Given the description of an element on the screen output the (x, y) to click on. 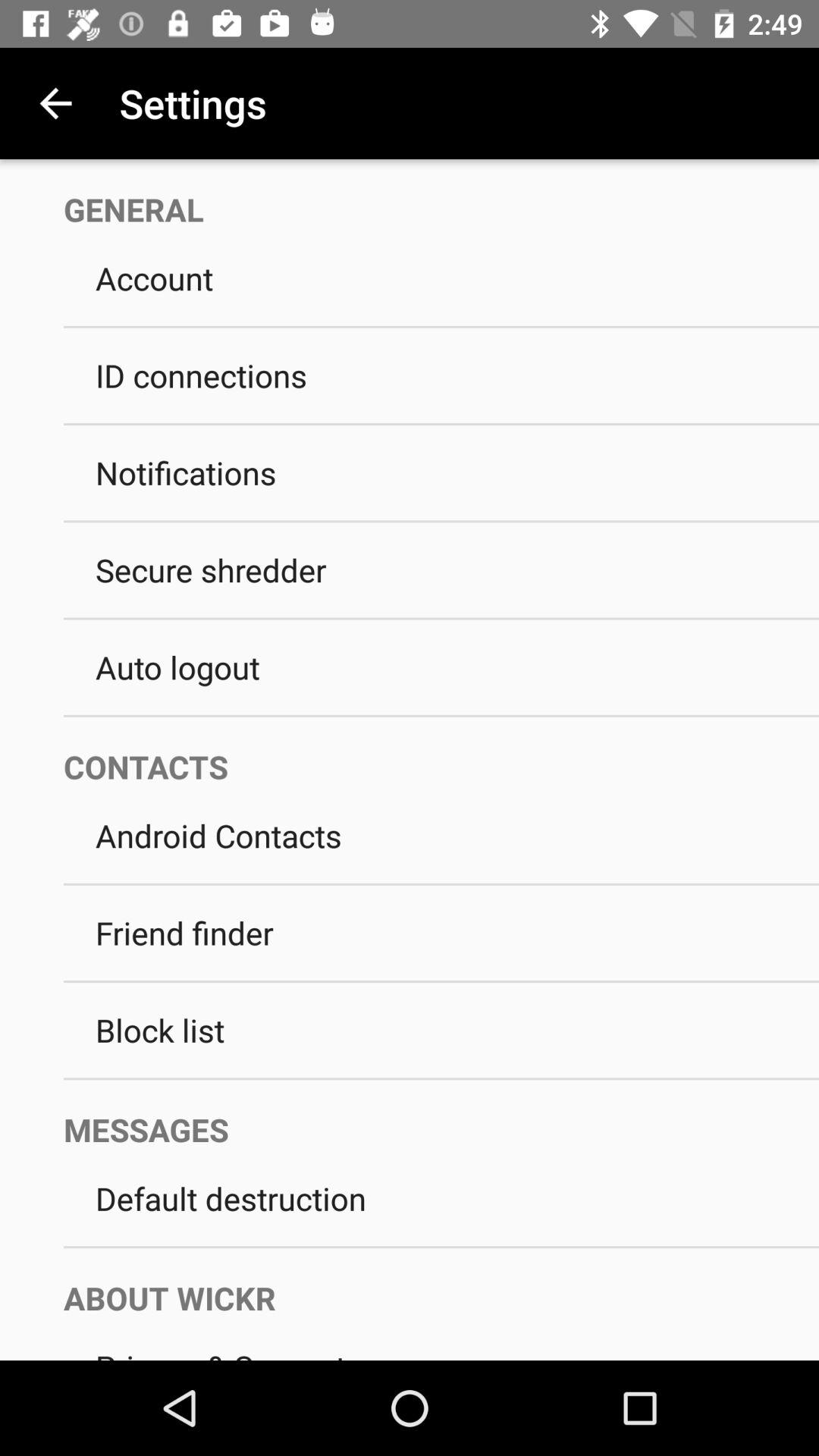
tap the icon below the messages item (441, 1198)
